Given the description of an element on the screen output the (x, y) to click on. 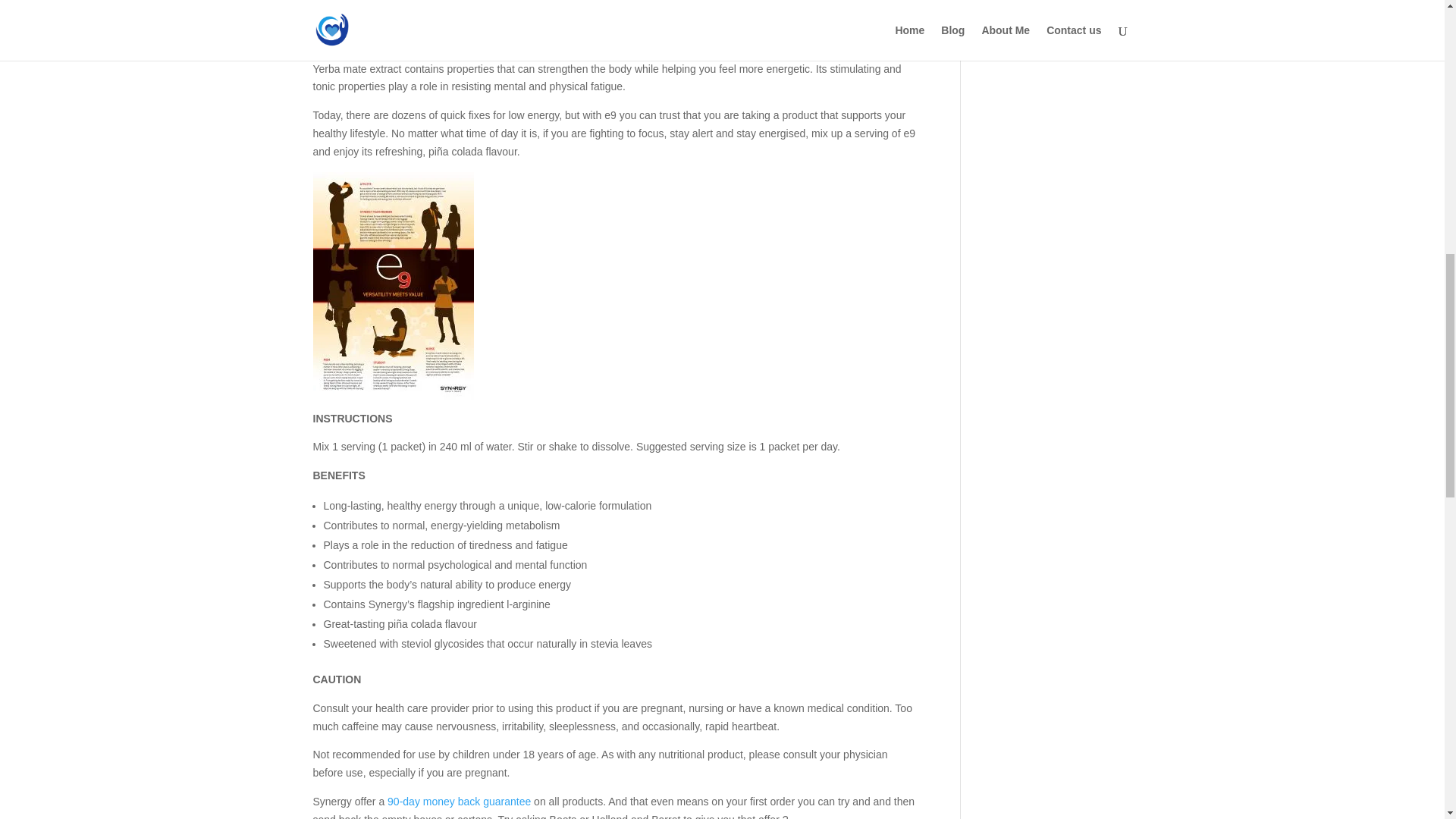
90-day money back guarantee (459, 801)
